Given the description of an element on the screen output the (x, y) to click on. 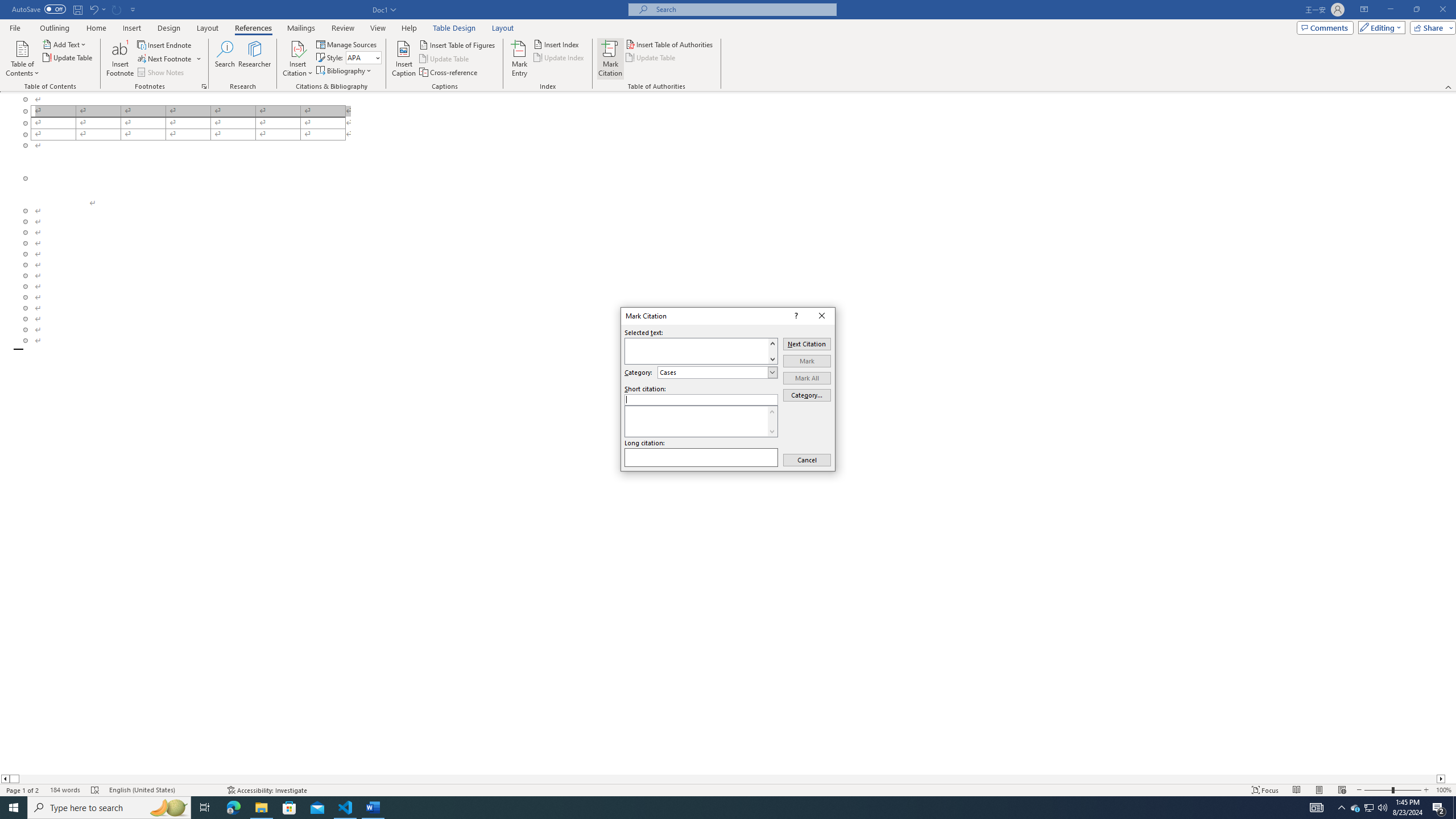
Footnote and Endnote Dialog... (203, 85)
Short citation: (700, 399)
Update Table (651, 56)
Page right (727, 778)
